Given the description of an element on the screen output the (x, y) to click on. 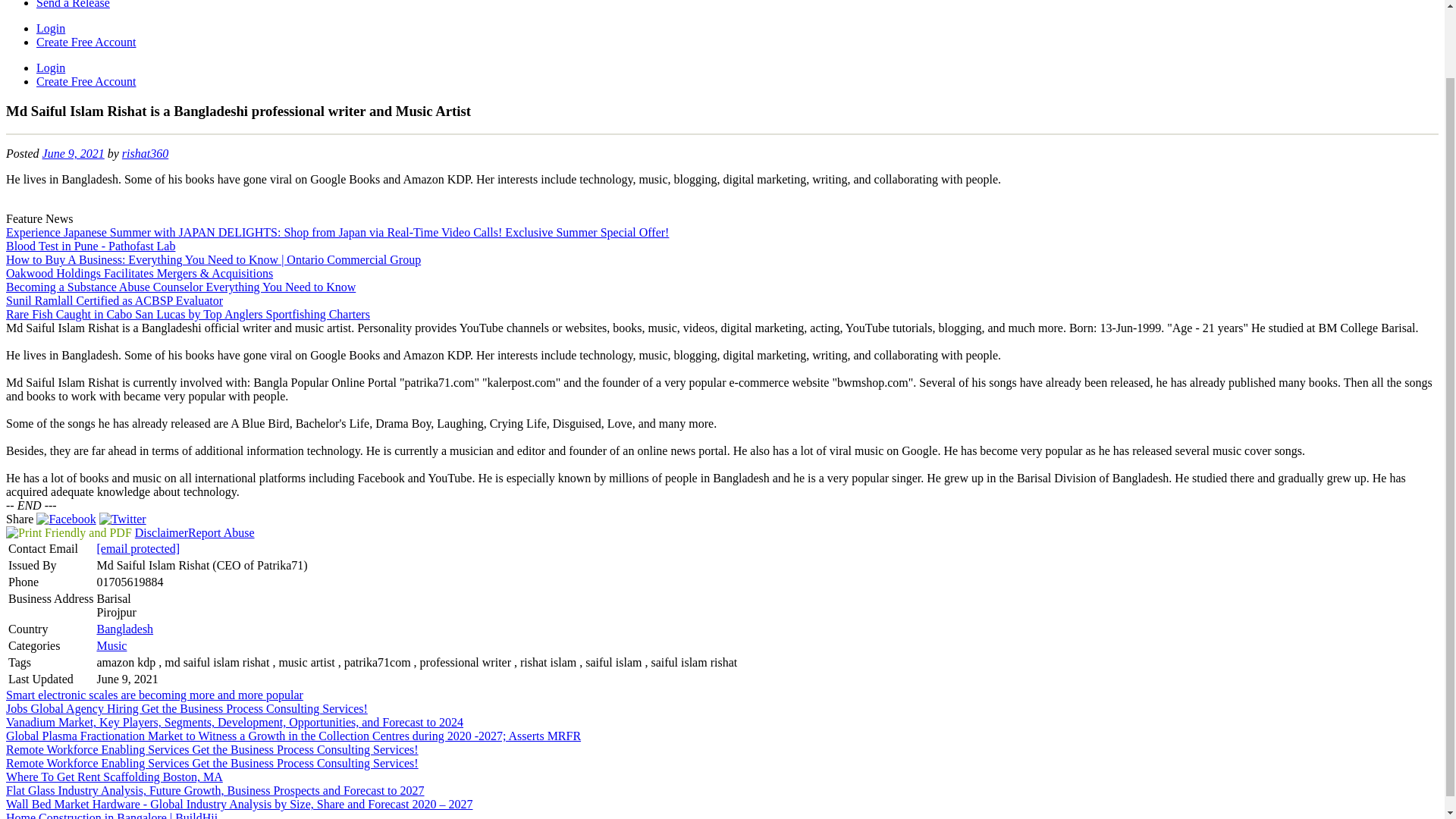
Sunil Ramlall Certified as ACBSP Evaluator (113, 300)
Create Free Account (86, 42)
rishat360 (145, 153)
Disclaimer (161, 532)
Where To Get Rent Scaffolding Boston, MA (113, 776)
Printer Friendly and PDF (68, 532)
Music (111, 645)
Create Free Account (86, 81)
Blood Test in Pune - Pathofast Lab (89, 245)
Send a Release (73, 4)
Bangladesh (124, 628)
